Given the description of an element on the screen output the (x, y) to click on. 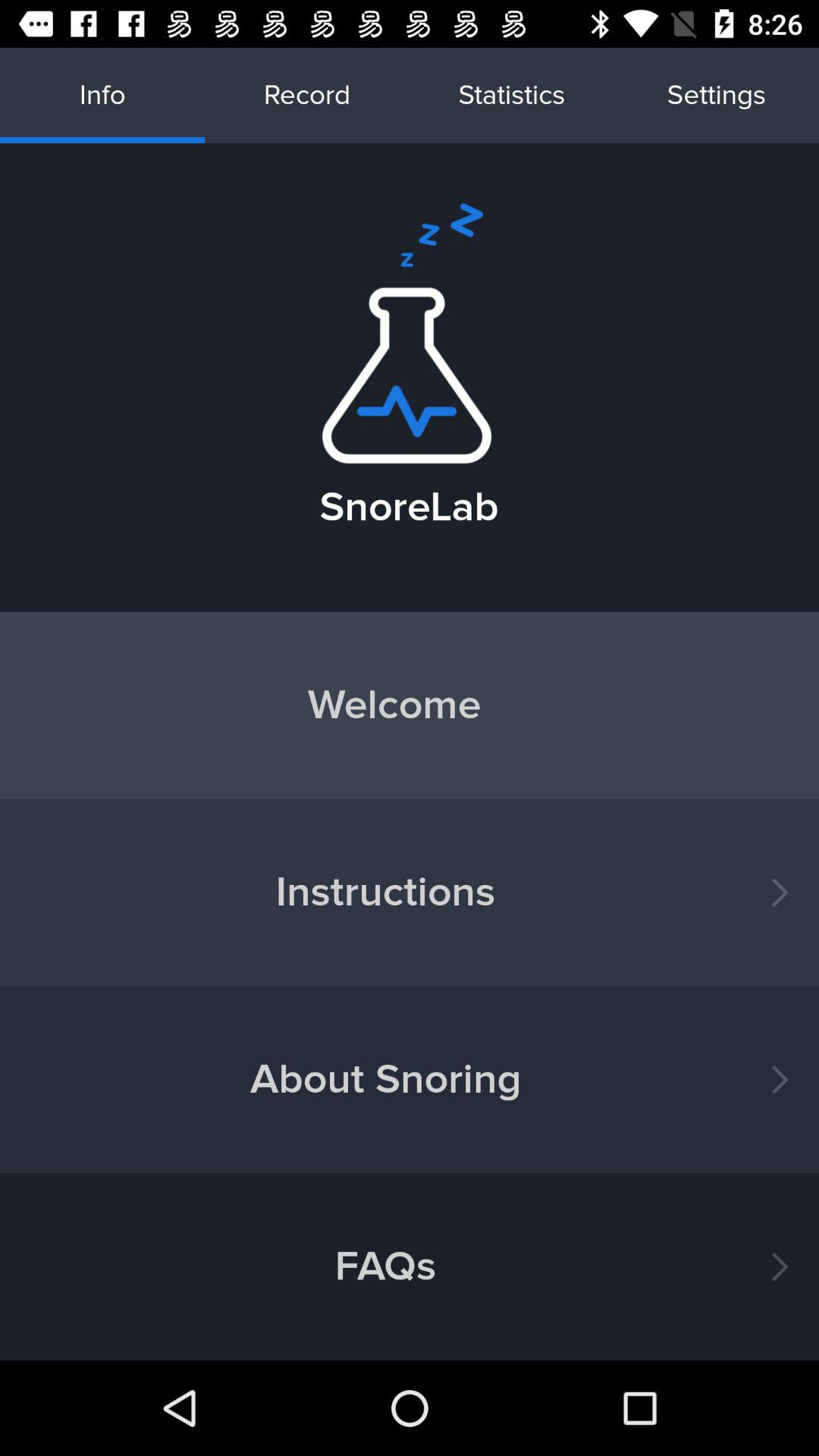
choose the faqs item (409, 1266)
